Given the description of an element on the screen output the (x, y) to click on. 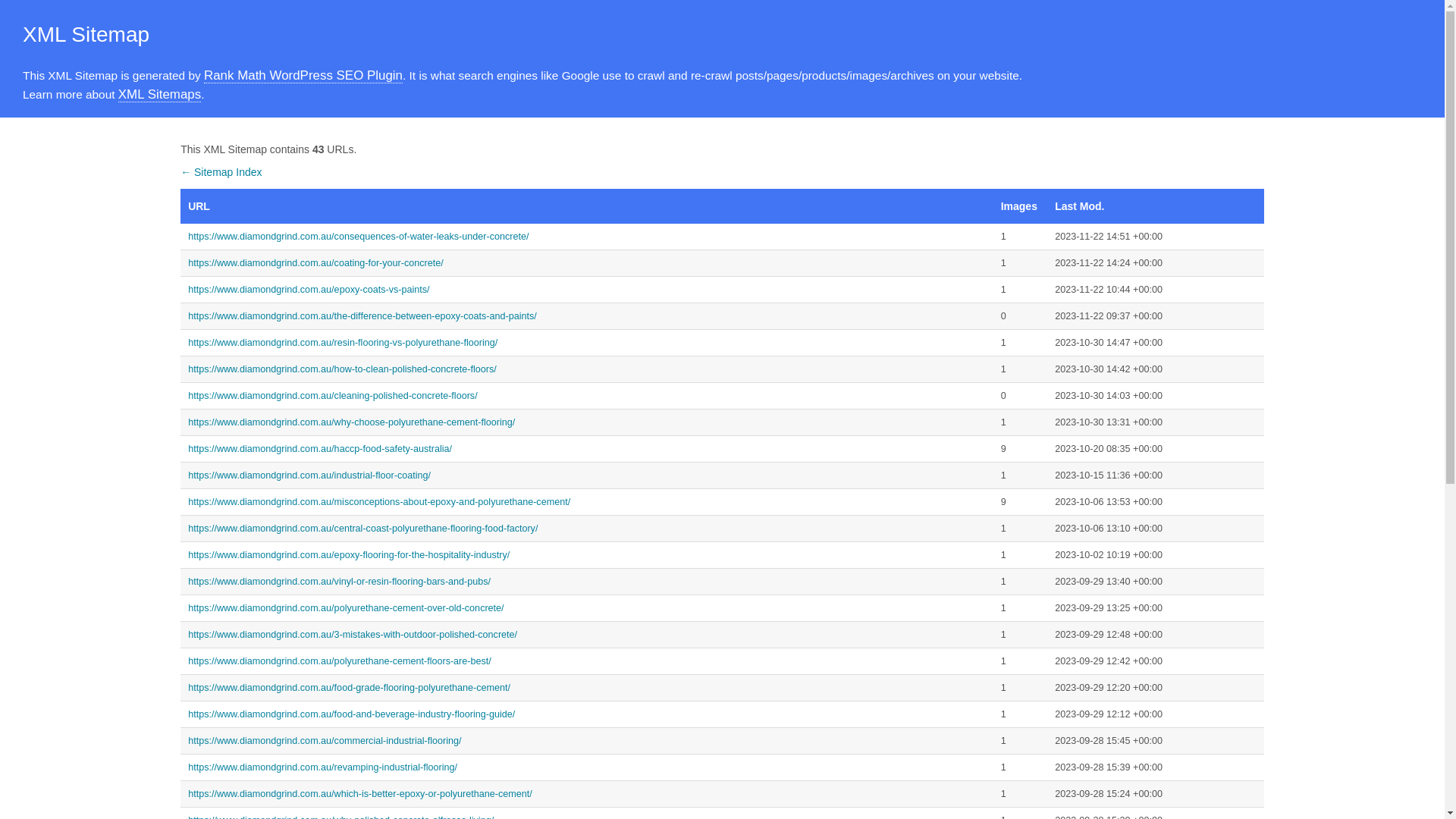
Rank Math WordPress SEO Plugin Element type: text (302, 75)
https://www.diamondgrind.com.au/epoxy-coats-vs-paints/ Element type: text (586, 289)
https://www.diamondgrind.com.au/industrial-floor-coating/ Element type: text (586, 475)
https://www.diamondgrind.com.au/haccp-food-safety-australia/ Element type: text (586, 448)
XML Sitemaps Element type: text (159, 94)
https://www.diamondgrind.com.au/coating-for-your-concrete/ Element type: text (586, 262)
